Given the description of an element on the screen output the (x, y) to click on. 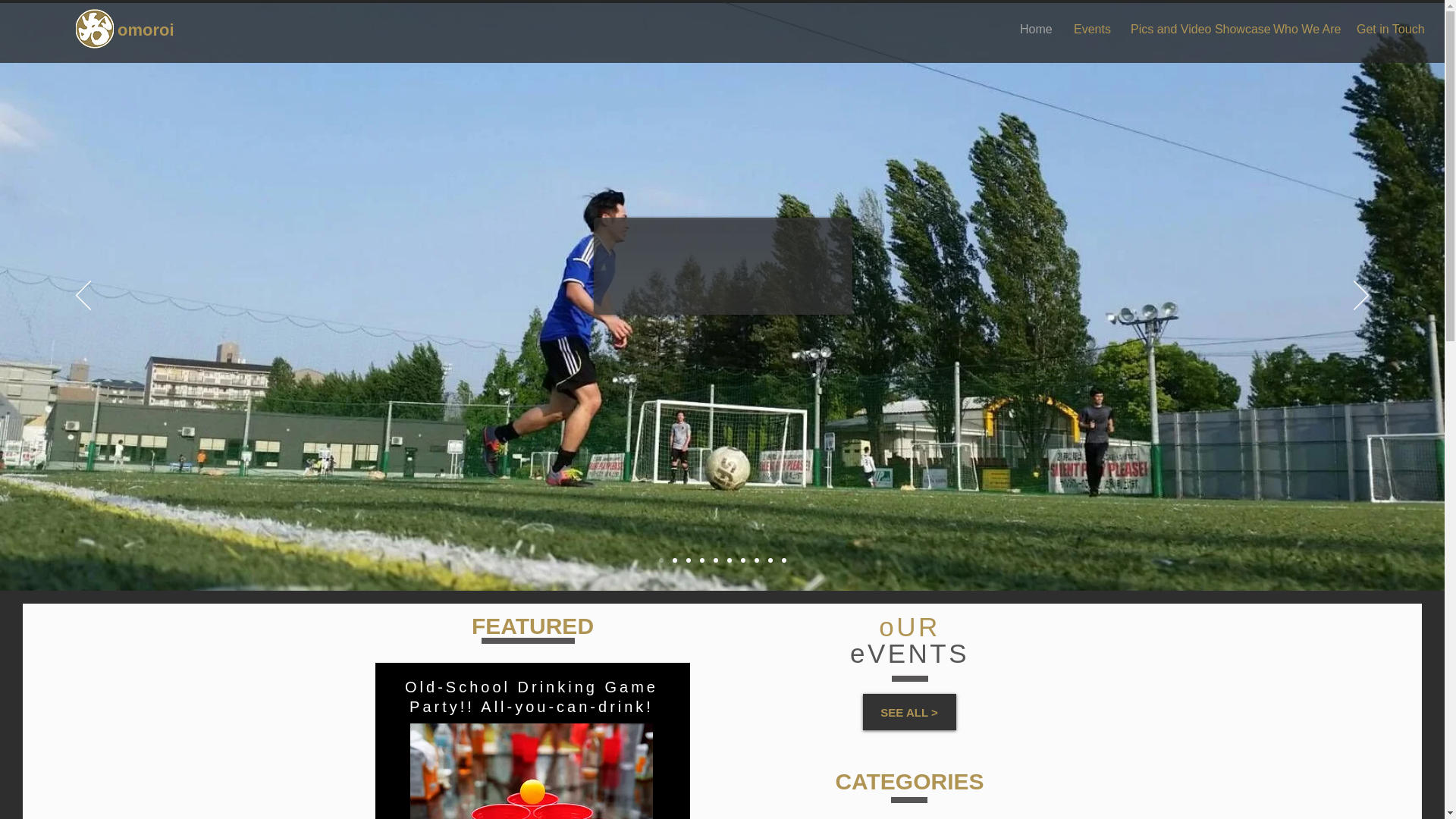
Pics and Video Showcase (1190, 29)
omoroi (156, 30)
Home (1035, 29)
Get in Touch (1387, 29)
Who We Are (1303, 29)
